Given the description of an element on the screen output the (x, y) to click on. 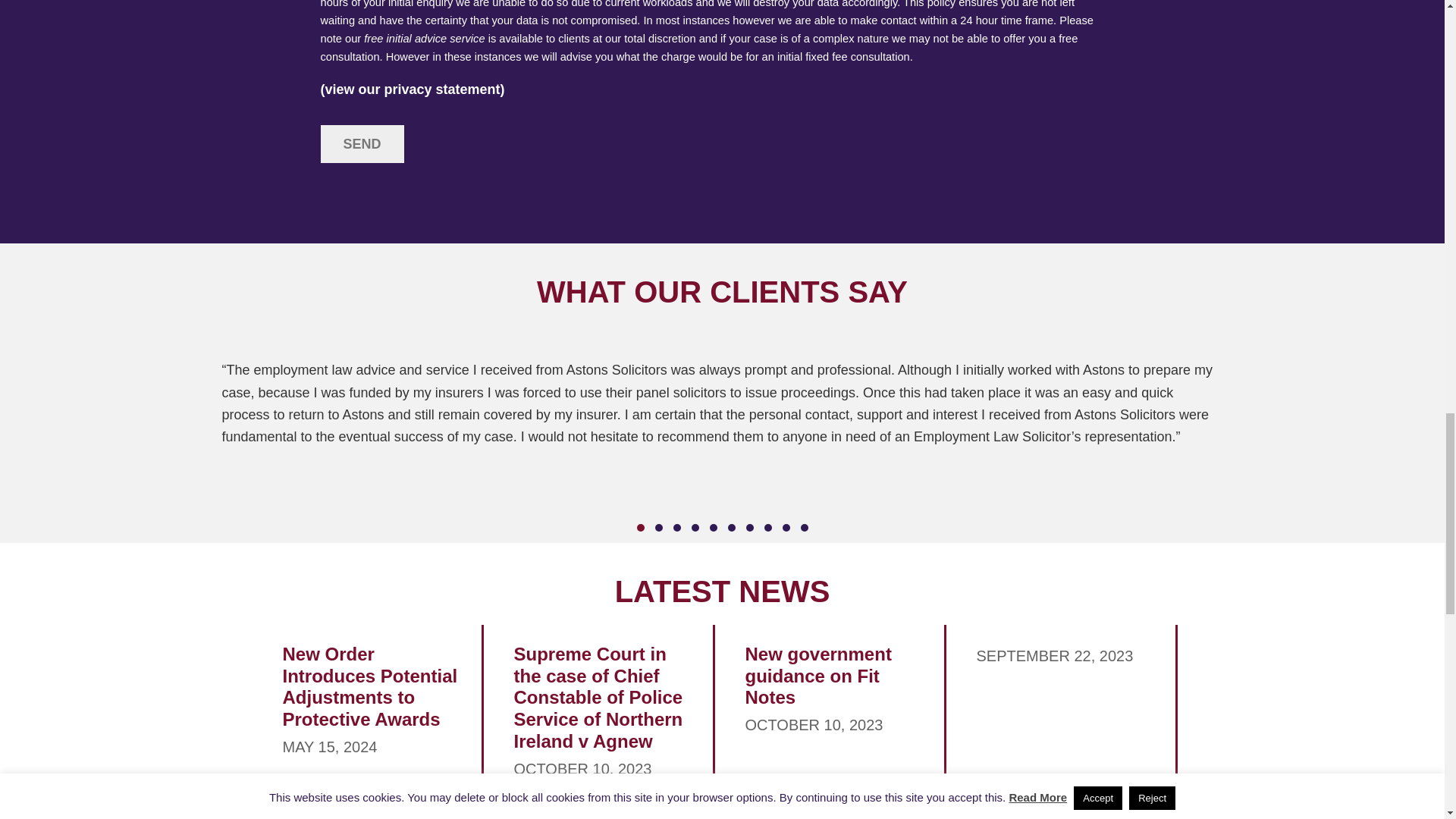
Send (361, 144)
Joan Harper, Northampton (721, 403)
Send (361, 144)
